Given the description of an element on the screen output the (x, y) to click on. 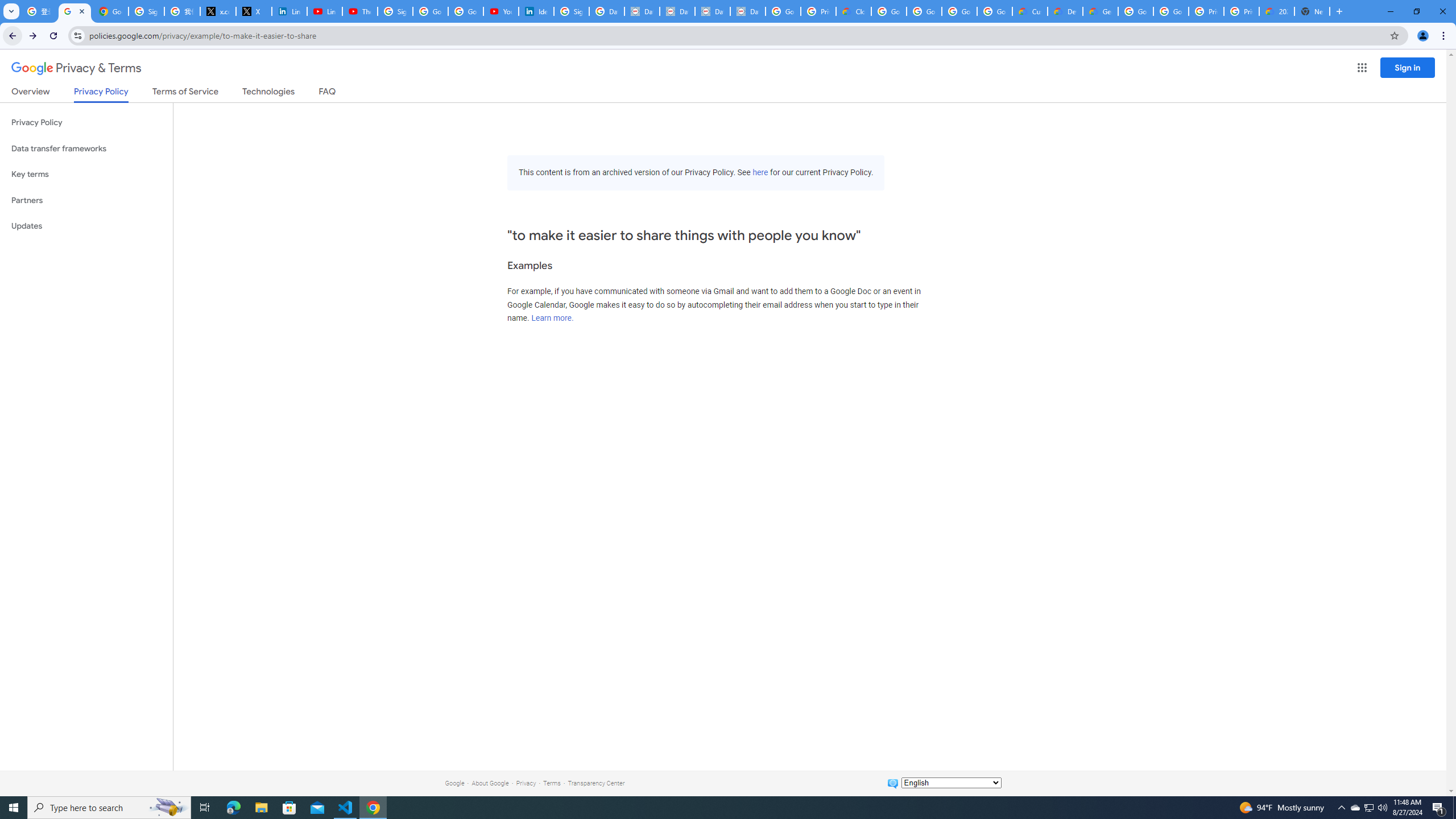
Google Workspace - Specific Terms (994, 11)
About Google (490, 783)
Transparency Center (595, 783)
Data Privacy Framework (712, 11)
Data Privacy Framework (747, 11)
